Given the description of an element on the screen output the (x, y) to click on. 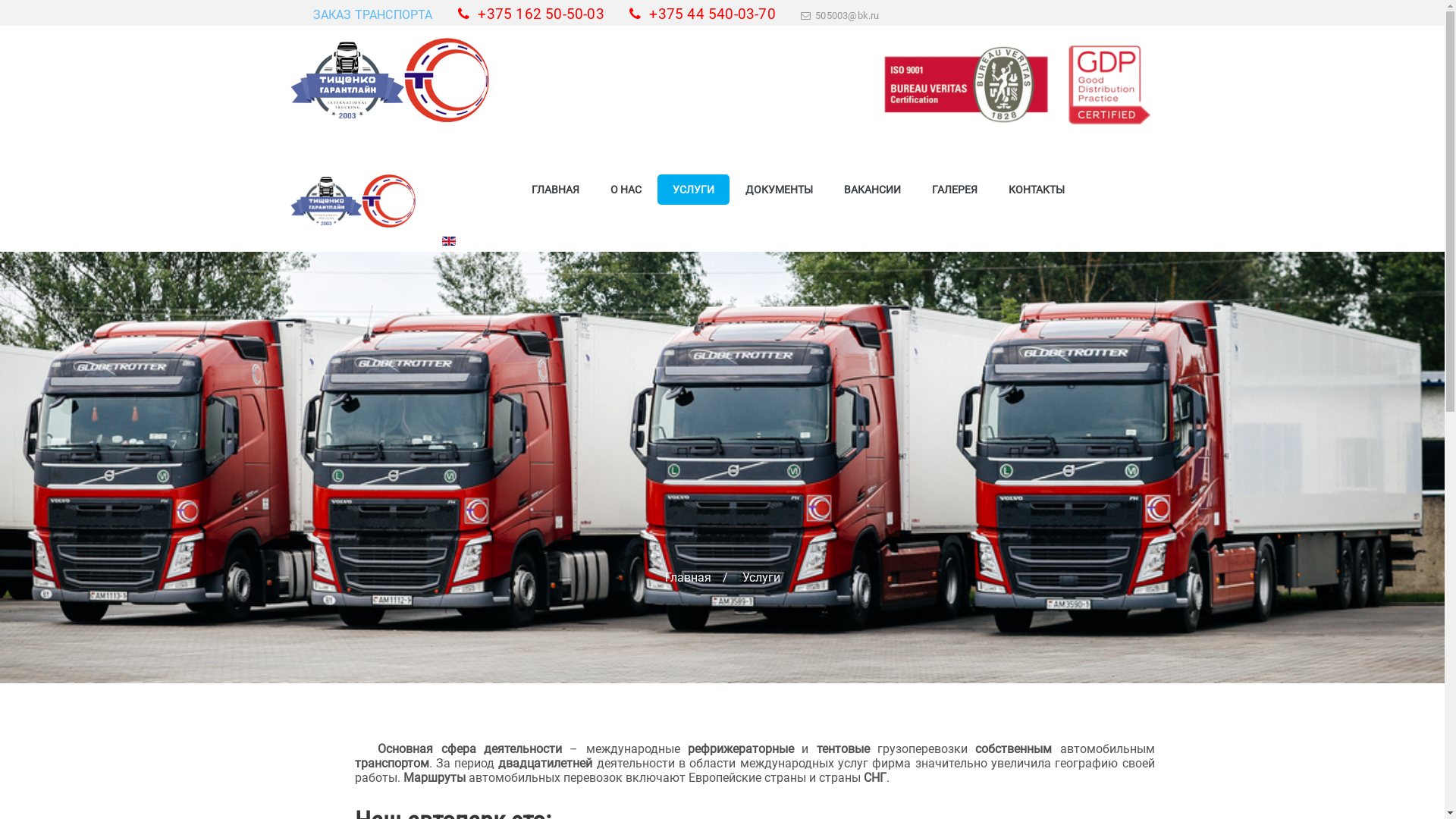
English Element type: hover (448, 240)
